Given the description of an element on the screen output the (x, y) to click on. 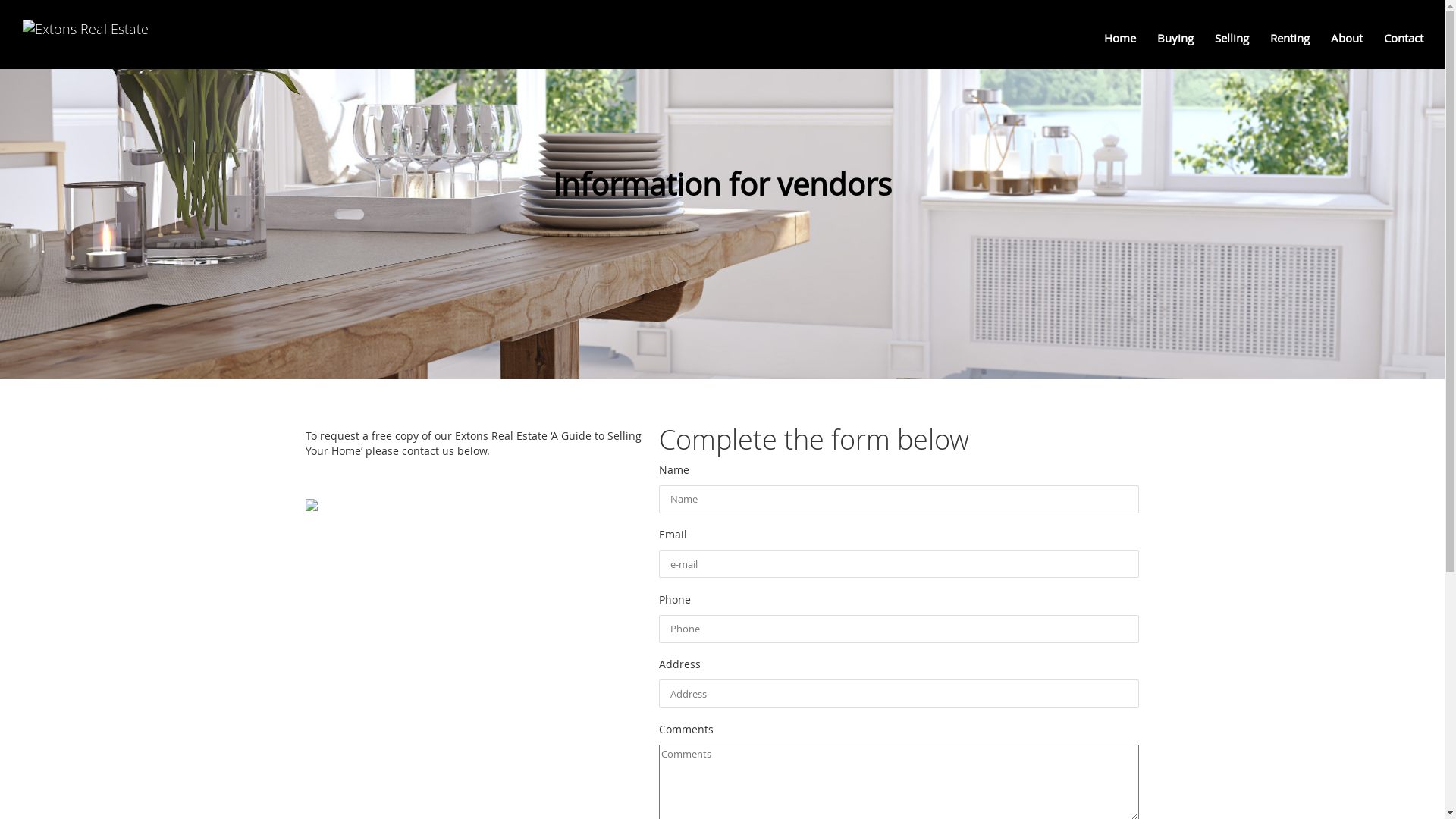
About   Element type: text (1349, 41)
Selling   Element type: text (1234, 41)
Renting   Element type: text (1292, 41)
Home   Element type: text (1123, 41)
Buying   Element type: text (1178, 41)
Contact   Element type: text (1406, 41)
